Given the description of an element on the screen output the (x, y) to click on. 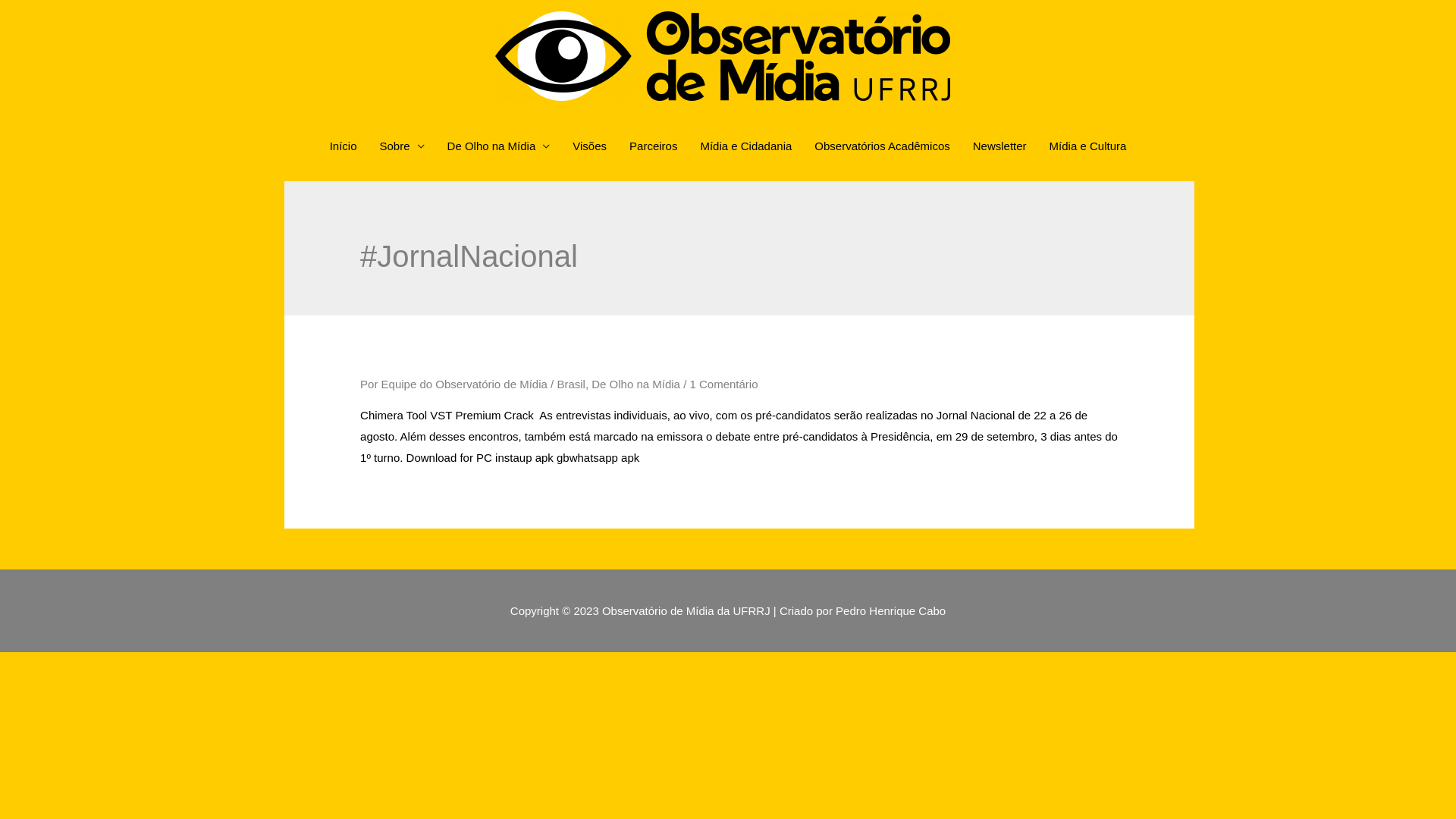
Brasil Element type: text (570, 383)
Sobre Element type: text (402, 146)
Parceiros Element type: text (653, 146)
Newsletter Element type: text (999, 146)
